Given the description of an element on the screen output the (x, y) to click on. 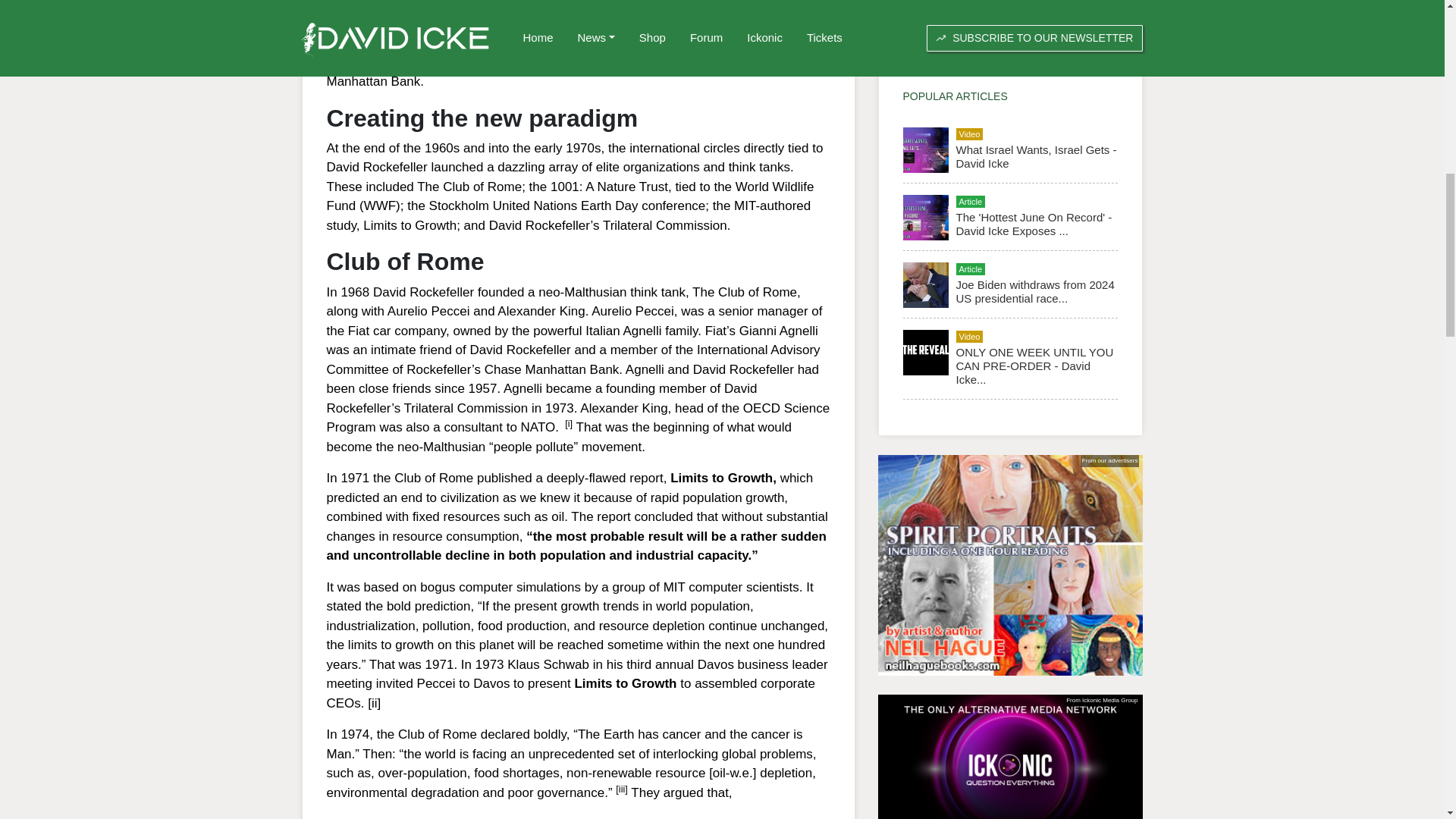
What Israel Wants, Israel Gets - David Icke (1035, 156)
Joe Biden withdraws from 2024 US presidential race (1034, 291)
